Given the description of an element on the screen output the (x, y) to click on. 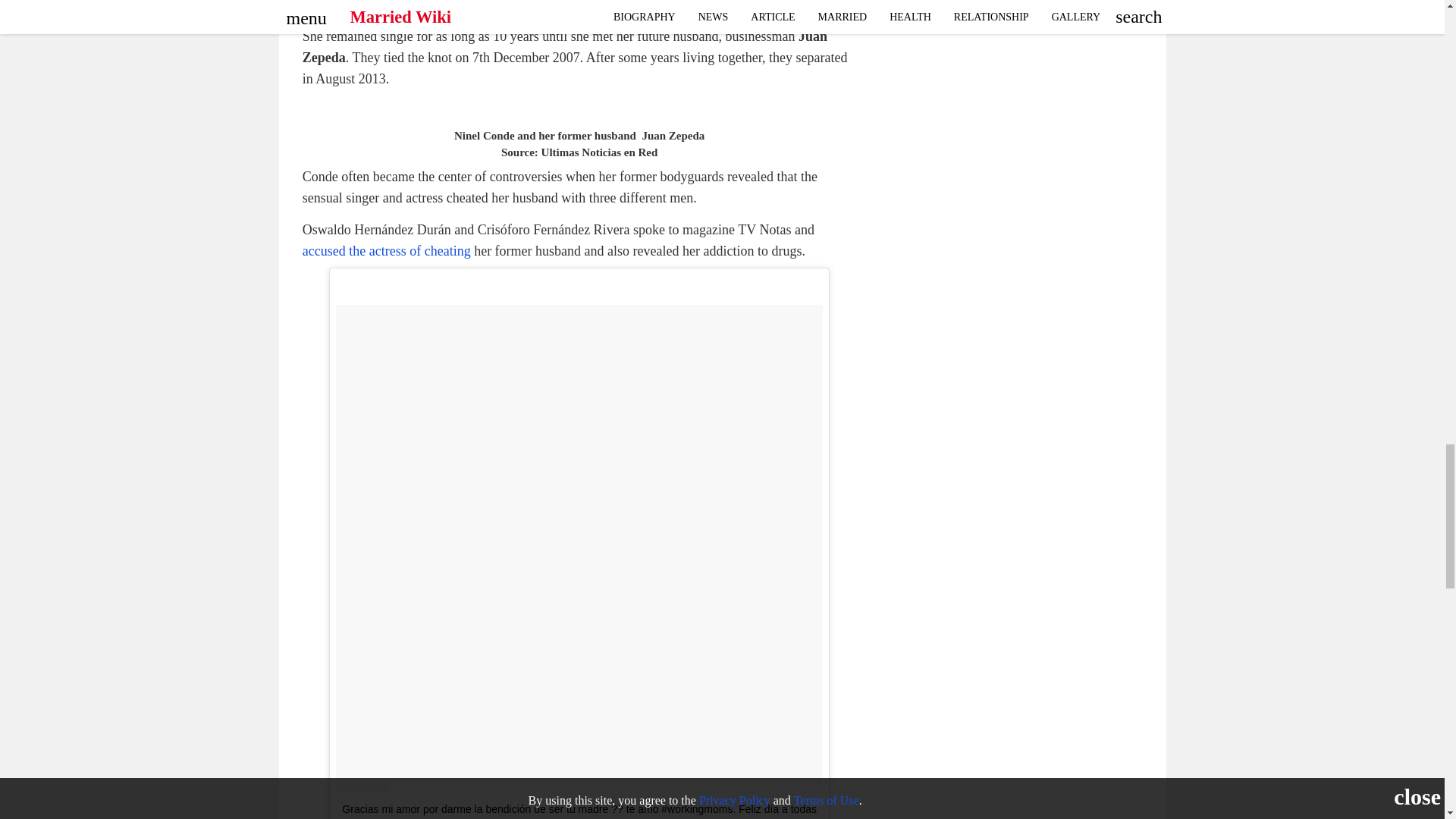
accused the actress of cheating (386, 250)
